Given the description of an element on the screen output the (x, y) to click on. 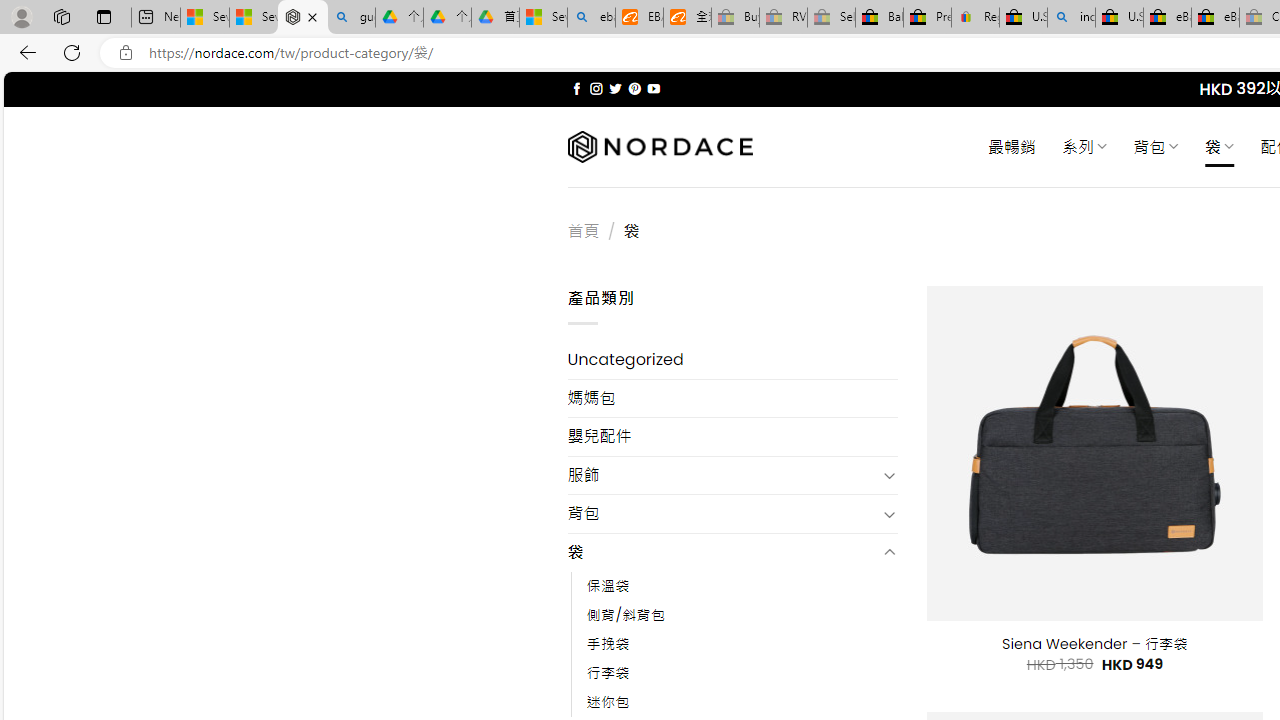
Register: Create a personal eBay account (975, 17)
including - Search (1071, 17)
Buy Auto Parts & Accessories | eBay - Sleeping (735, 17)
Uncategorized (732, 359)
Uncategorized (732, 359)
